Given the description of an element on the screen output the (x, y) to click on. 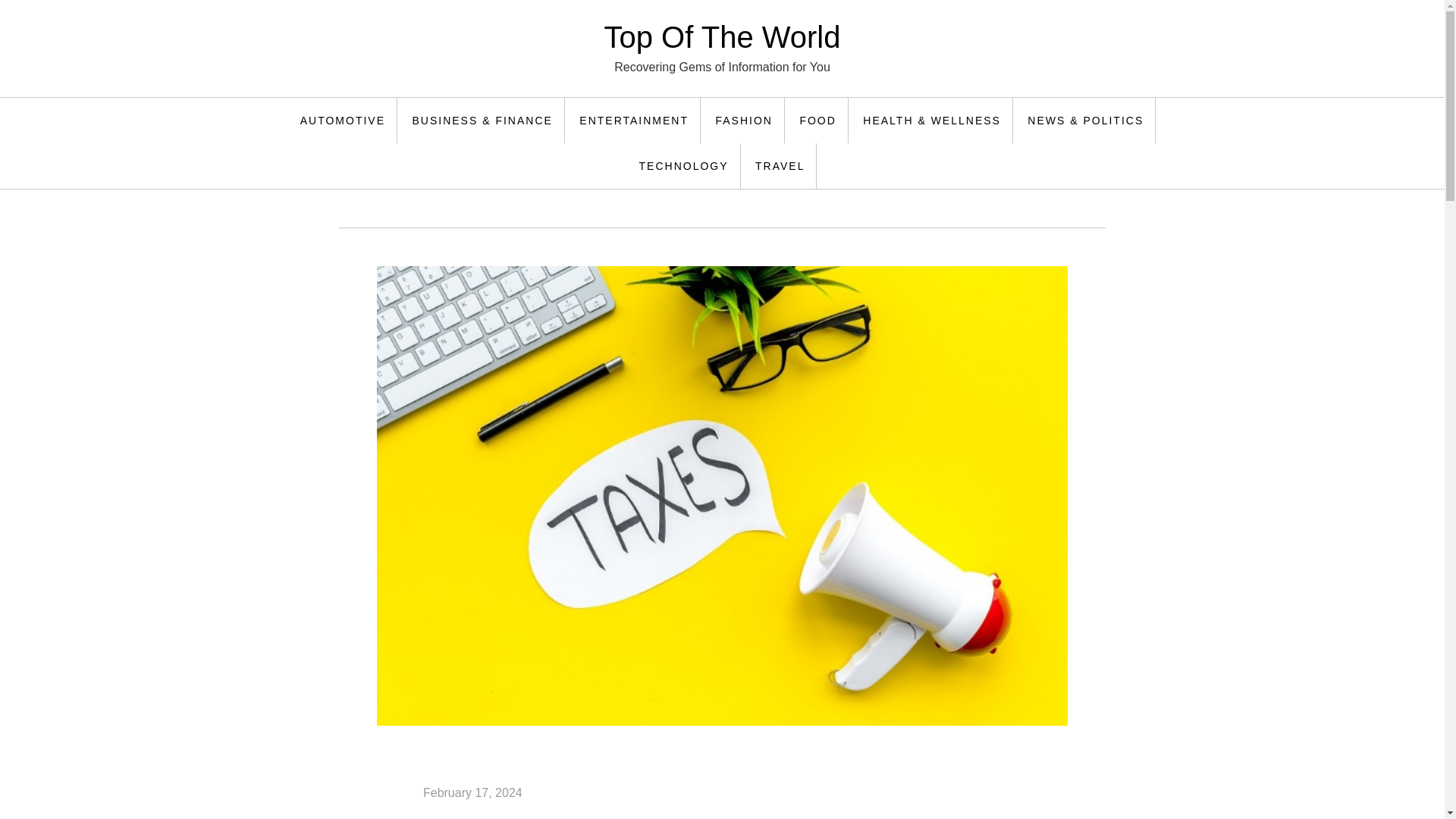
FASHION (743, 120)
TRAVEL (780, 166)
TECHNOLOGY (684, 166)
AUTOMOTIVE (342, 120)
February 17, 2024 (472, 792)
Top Of The World (722, 37)
ENTERTAINMENT (633, 120)
FOOD (817, 120)
